Given the description of an element on the screen output the (x, y) to click on. 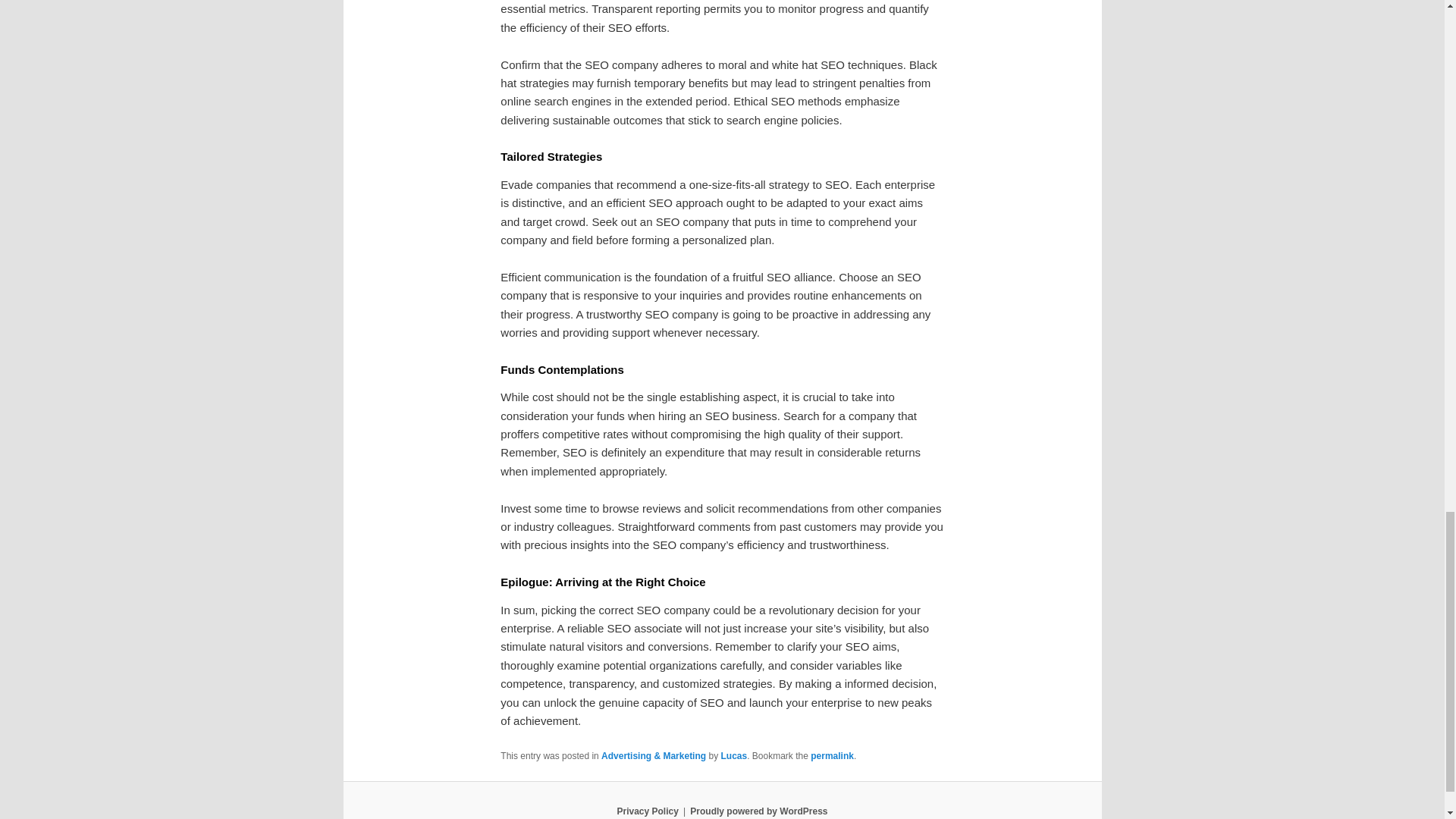
Proudly powered by WordPress (758, 810)
Semantic Personal Publishing Platform (758, 810)
Lucas (733, 756)
Privacy Policy (646, 810)
permalink (831, 756)
